Given the description of an element on the screen output the (x, y) to click on. 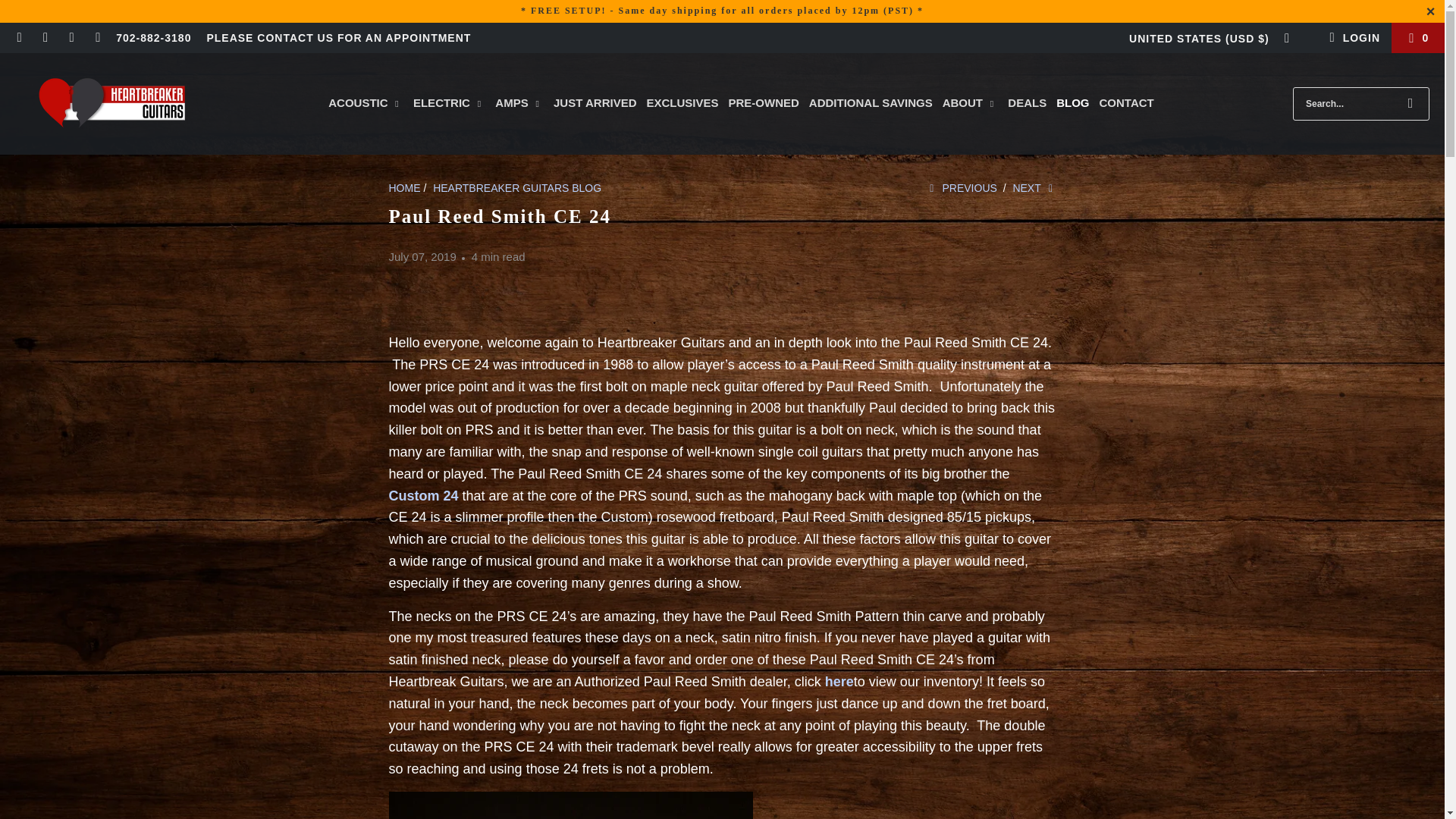
Heartbreaker Guitars on YouTube (97, 37)
Heartbreaker Guitars (101, 103)
Paul Reed Smith Custom 24 (423, 495)
Heartbreaker Guitars on Facebook (44, 37)
Heartbreaker Guitars on Instagram (71, 37)
Heartbreaker Guitars (404, 187)
Email Heartbreaker Guitars (18, 37)
My Account  (1351, 38)
Heartbreaker Guitars Blog (516, 187)
